Given the description of an element on the screen output the (x, y) to click on. 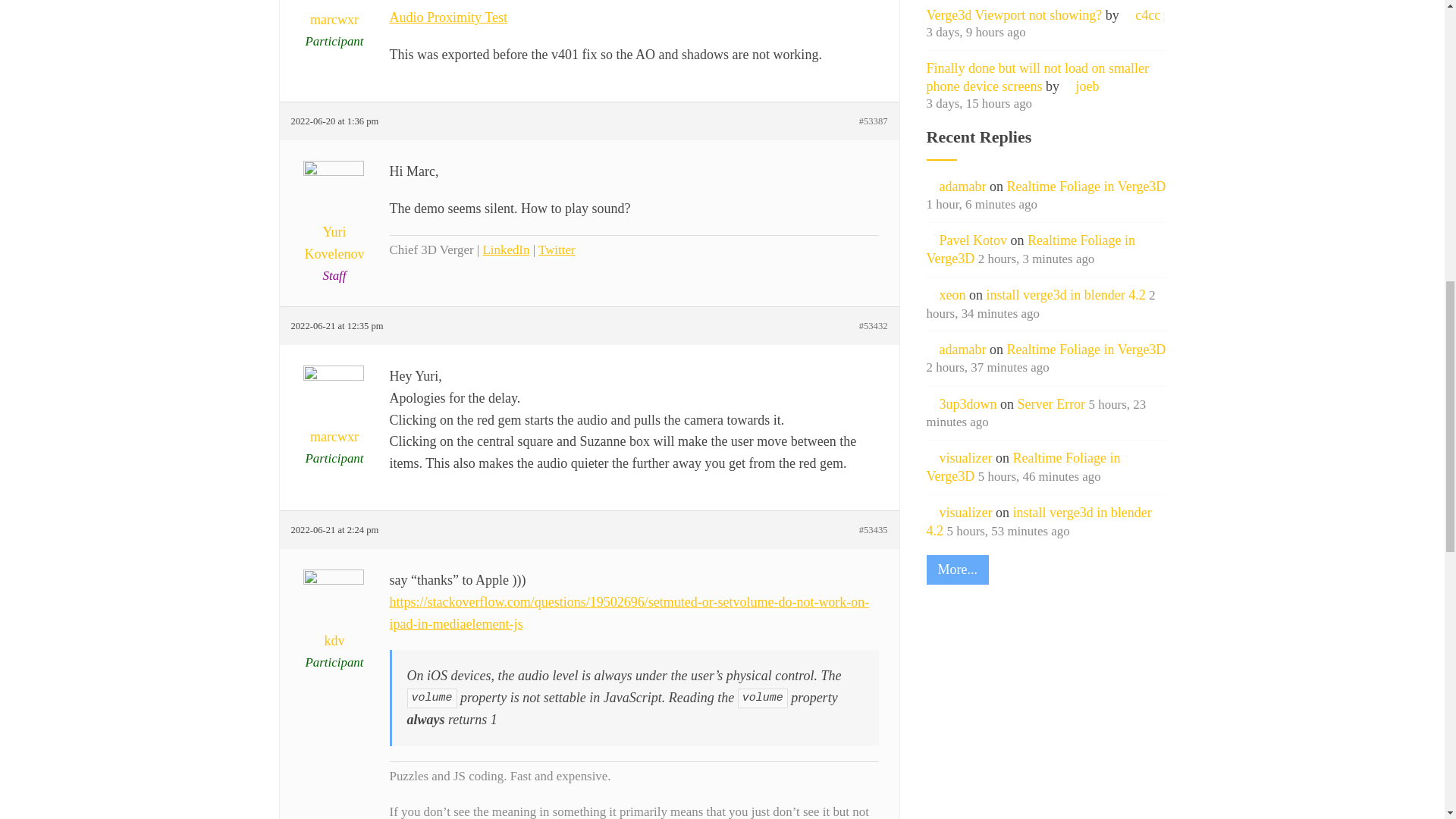
View c4cc's profile (1141, 14)
View marcwxr's profile (334, 15)
View adamabr's profile (956, 186)
View Yuri Kovelenov's profile (334, 220)
View kdv's profile (334, 618)
View marcwxr's profile (334, 414)
View joeb's profile (1080, 86)
